Given the description of an element on the screen output the (x, y) to click on. 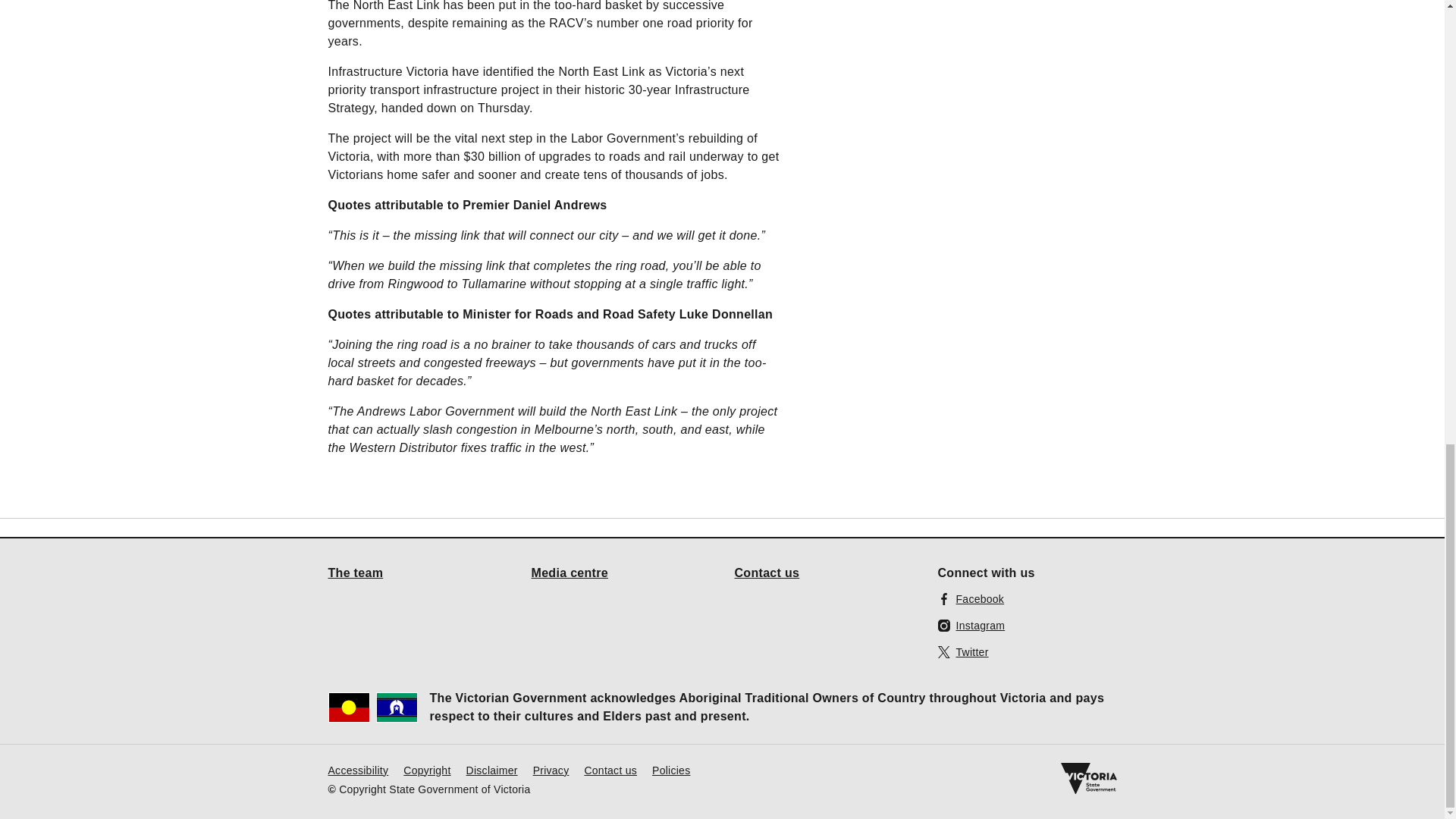
Copyright (426, 769)
Contact us (610, 769)
Contact us (766, 572)
Accessibility (357, 769)
Facebook (970, 598)
Disclaimer (491, 769)
Instagram (970, 625)
Media centre (569, 572)
Policies (671, 769)
Twitter (962, 651)
